Given the description of an element on the screen output the (x, y) to click on. 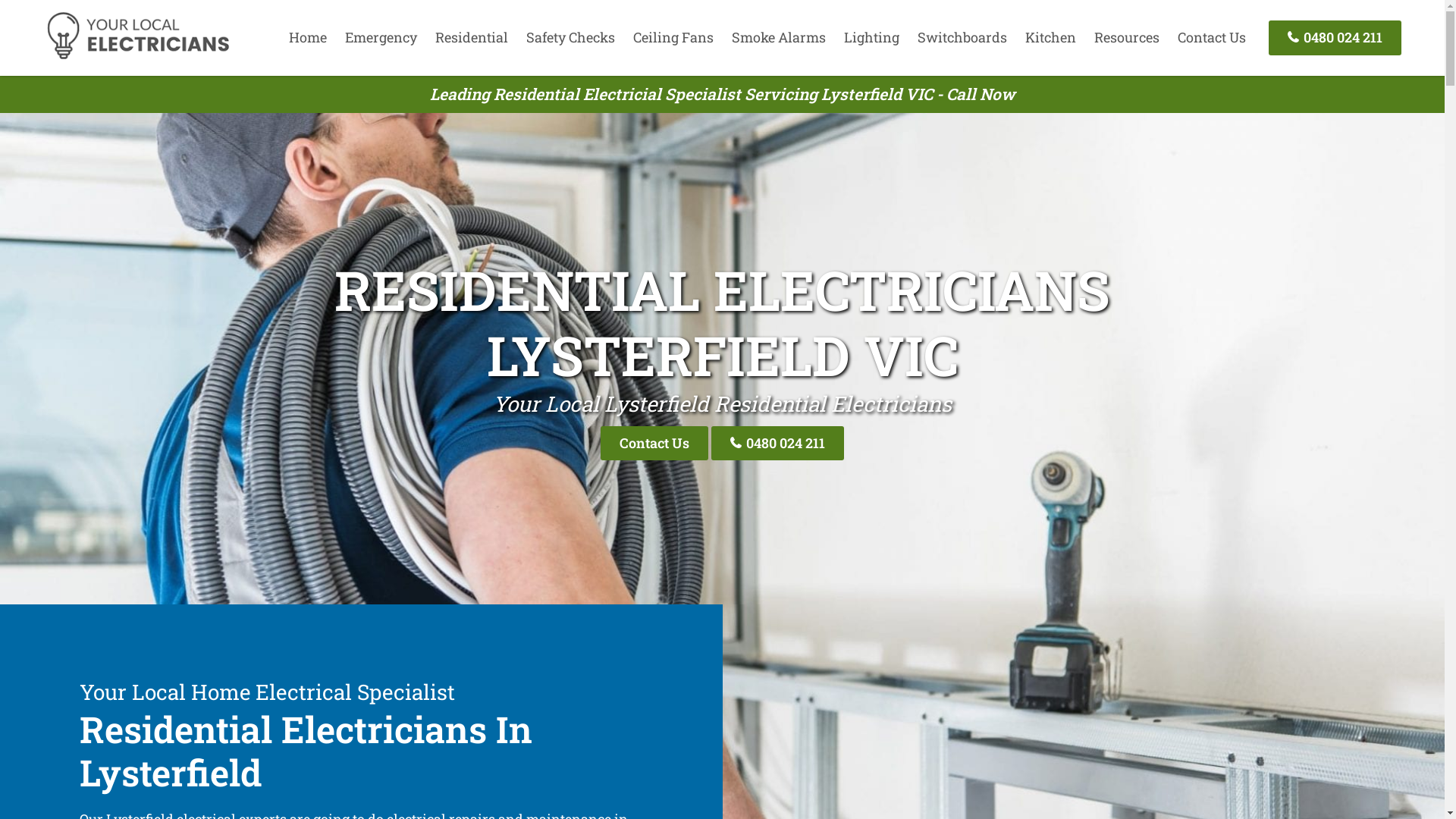
Switchboards Element type: text (962, 37)
Electricians Element type: hover (137, 56)
Safety Checks Element type: text (570, 37)
Emergency Element type: text (380, 37)
0480 024 211 Element type: text (1334, 37)
Residential Element type: text (471, 37)
Contact Us Element type: text (654, 443)
Ceiling Fans Element type: text (673, 37)
Kitchen Element type: text (1050, 37)
Home Element type: text (307, 37)
Contact Us Element type: text (1211, 37)
0480 024 211 Element type: text (777, 443)
Smoke Alarms Element type: text (778, 37)
Lighting Element type: text (871, 37)
Resources Element type: text (1126, 37)
